Given the description of an element on the screen output the (x, y) to click on. 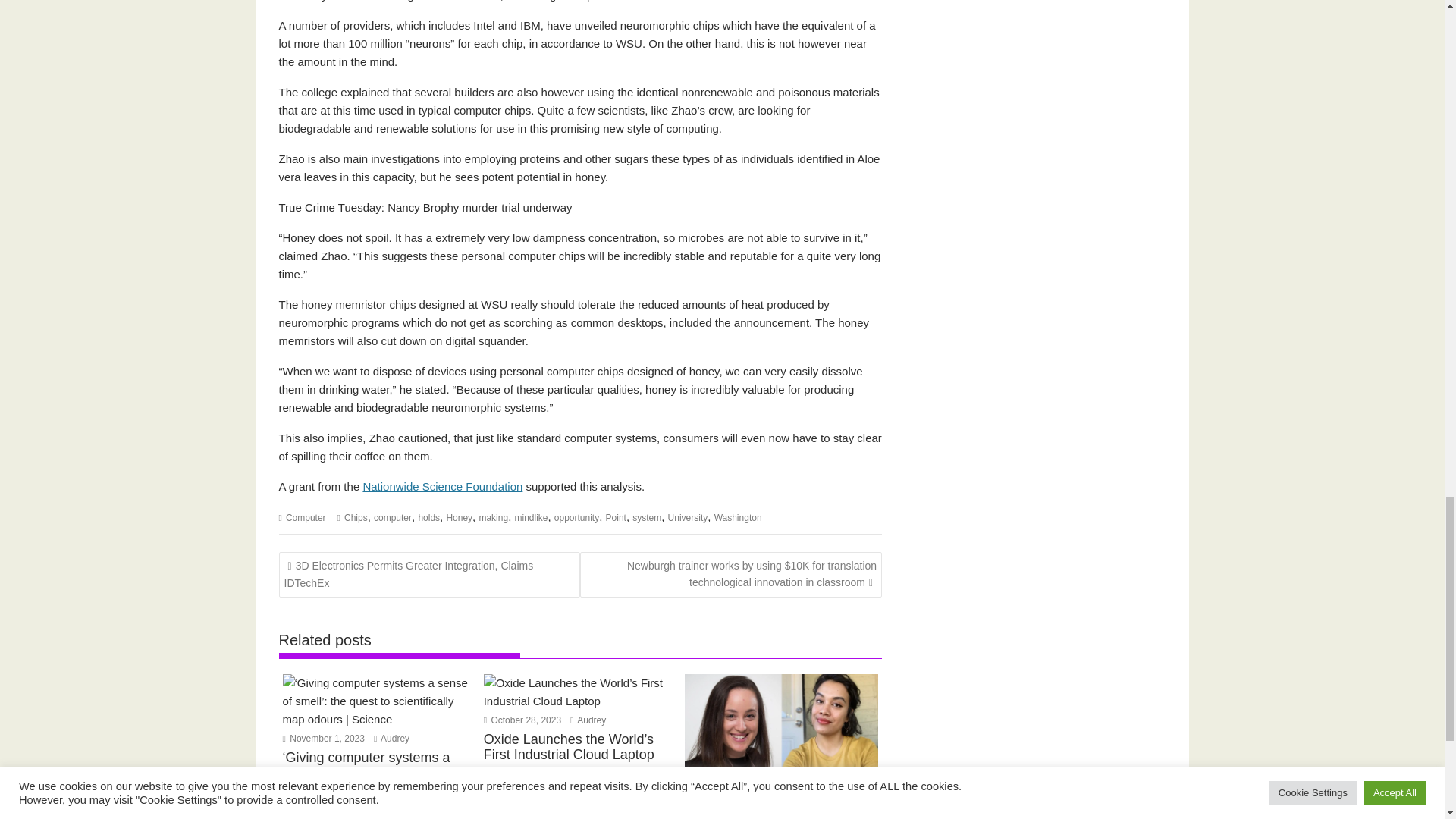
Audrey (788, 792)
Audrey (391, 738)
Audrey (587, 719)
